Given the description of an element on the screen output the (x, y) to click on. 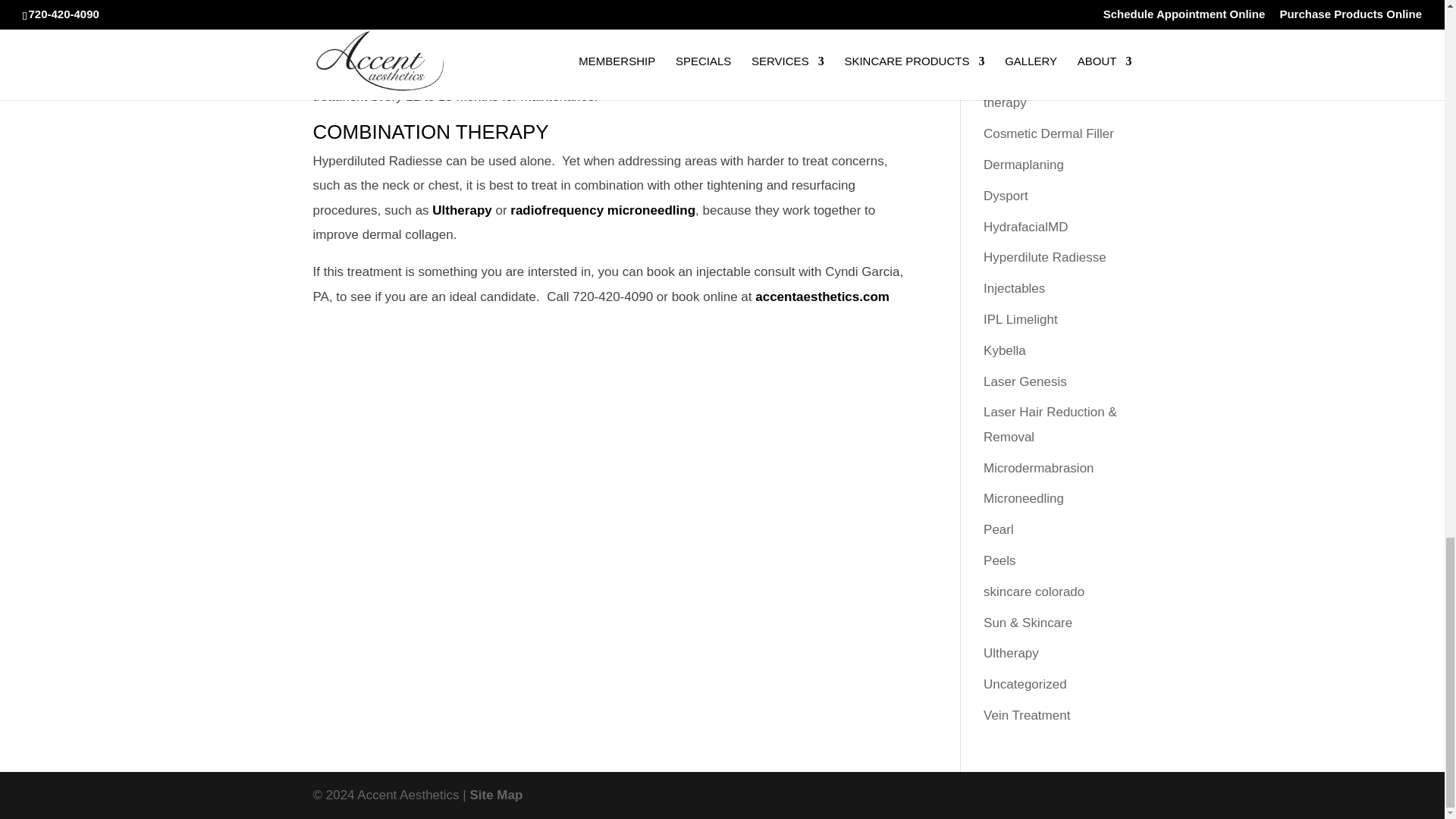
accentaesthetics.com (822, 296)
radiofrequency microneedling (603, 210)
Ultherapy (462, 210)
